Given the description of an element on the screen output the (x, y) to click on. 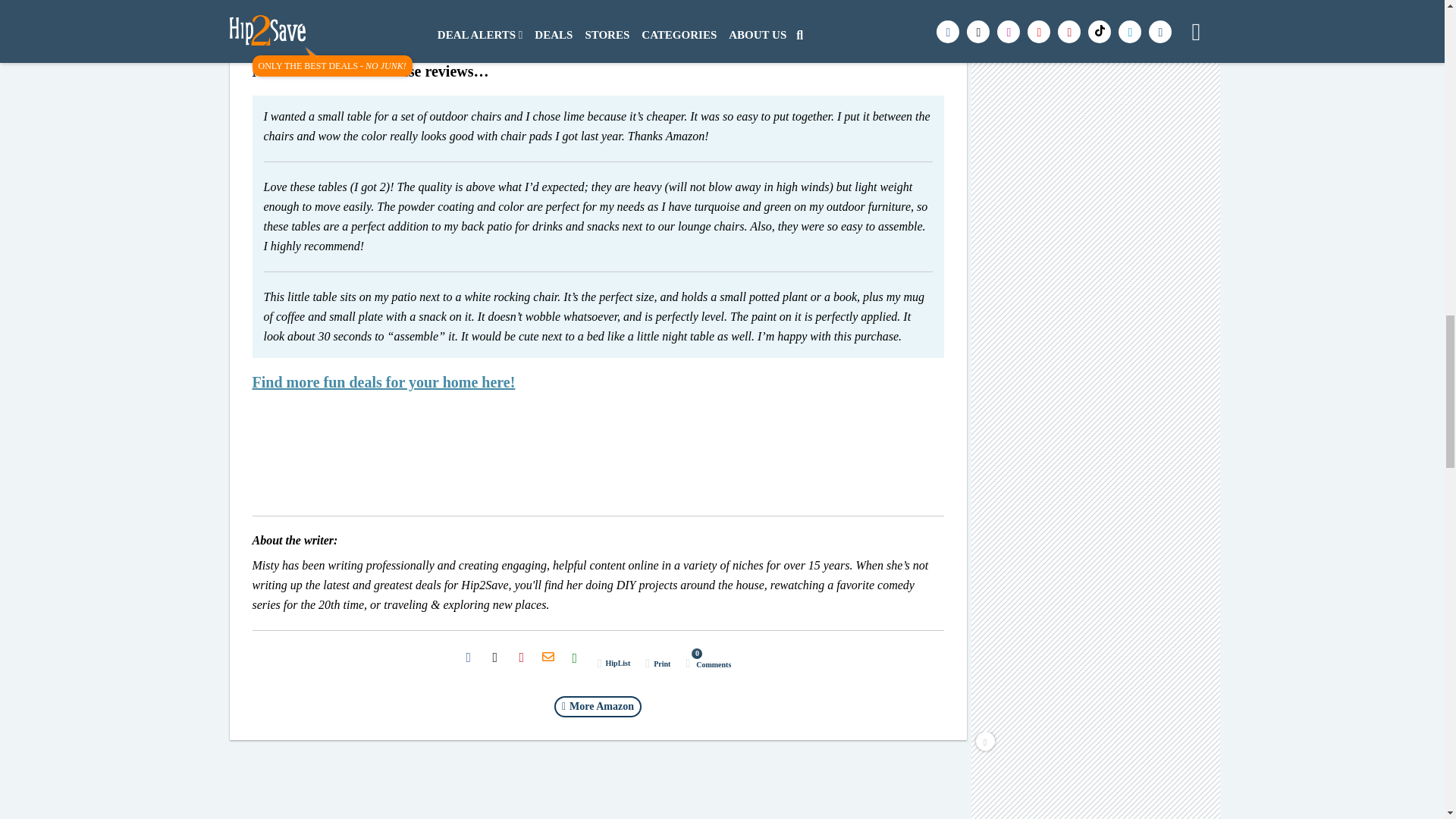
Click to share on Facebook (467, 657)
Click to share on H2S Email (547, 657)
Click to share on SMS (574, 657)
Click to share on X (494, 657)
Click to share on Pinterest (521, 657)
Find more fun deals for your home here! (383, 381)
